Given the description of an element on the screen output the (x, y) to click on. 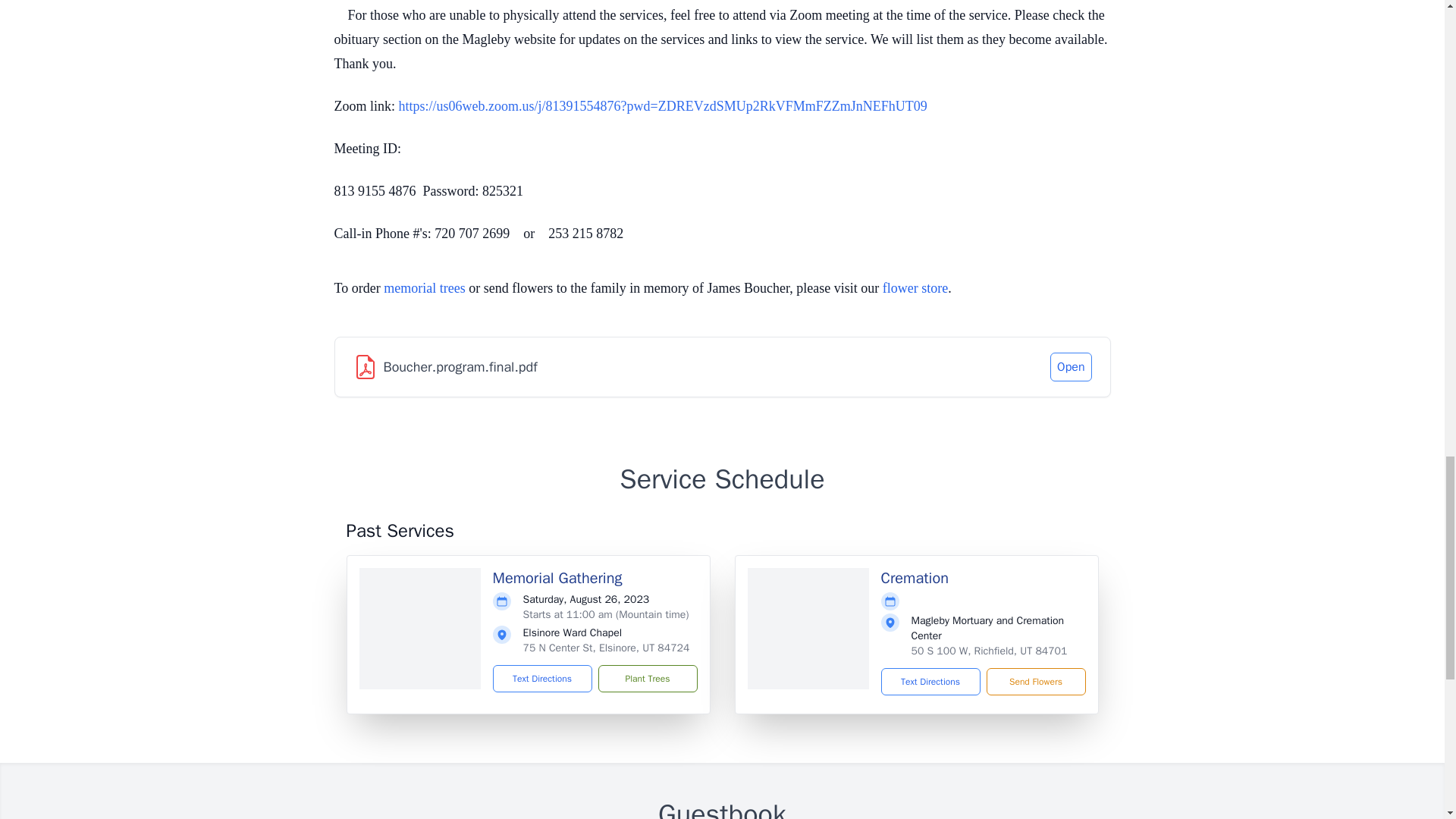
Plant Trees (646, 678)
Text Directions (929, 681)
50 S 100 W, Richfield, UT 84701 (989, 650)
Open (1069, 366)
Text Directions (542, 678)
75 N Center St, Elsinore, UT 84724 (606, 647)
flower store (914, 287)
memorial trees (424, 287)
Send Flowers (1034, 681)
